Given the description of an element on the screen output the (x, y) to click on. 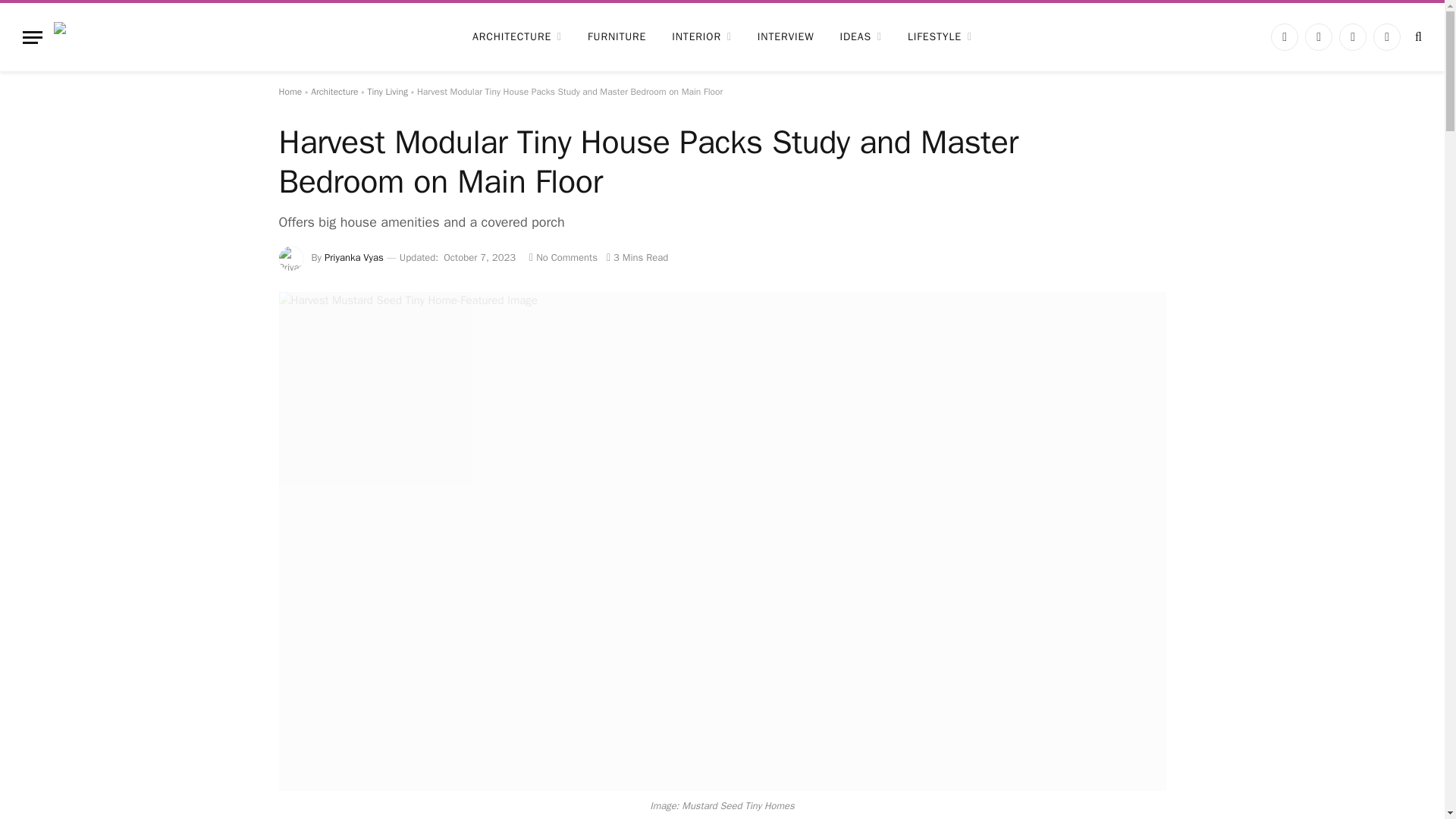
Homecrux (138, 36)
ARCHITECTURE (517, 37)
Posts by Priyanka Vyas (354, 256)
Search (1417, 36)
